Given the description of an element on the screen output the (x, y) to click on. 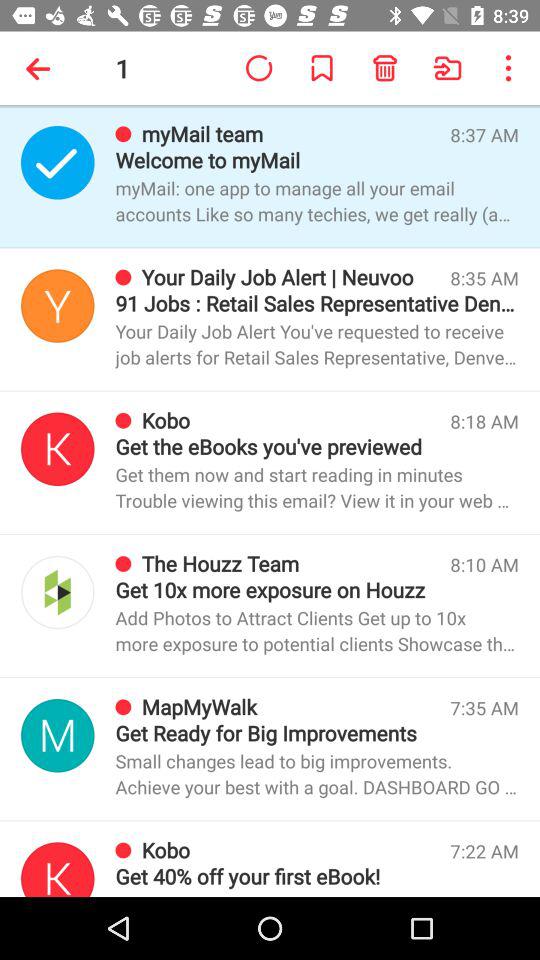
select multiple (57, 869)
